Given the description of an element on the screen output the (x, y) to click on. 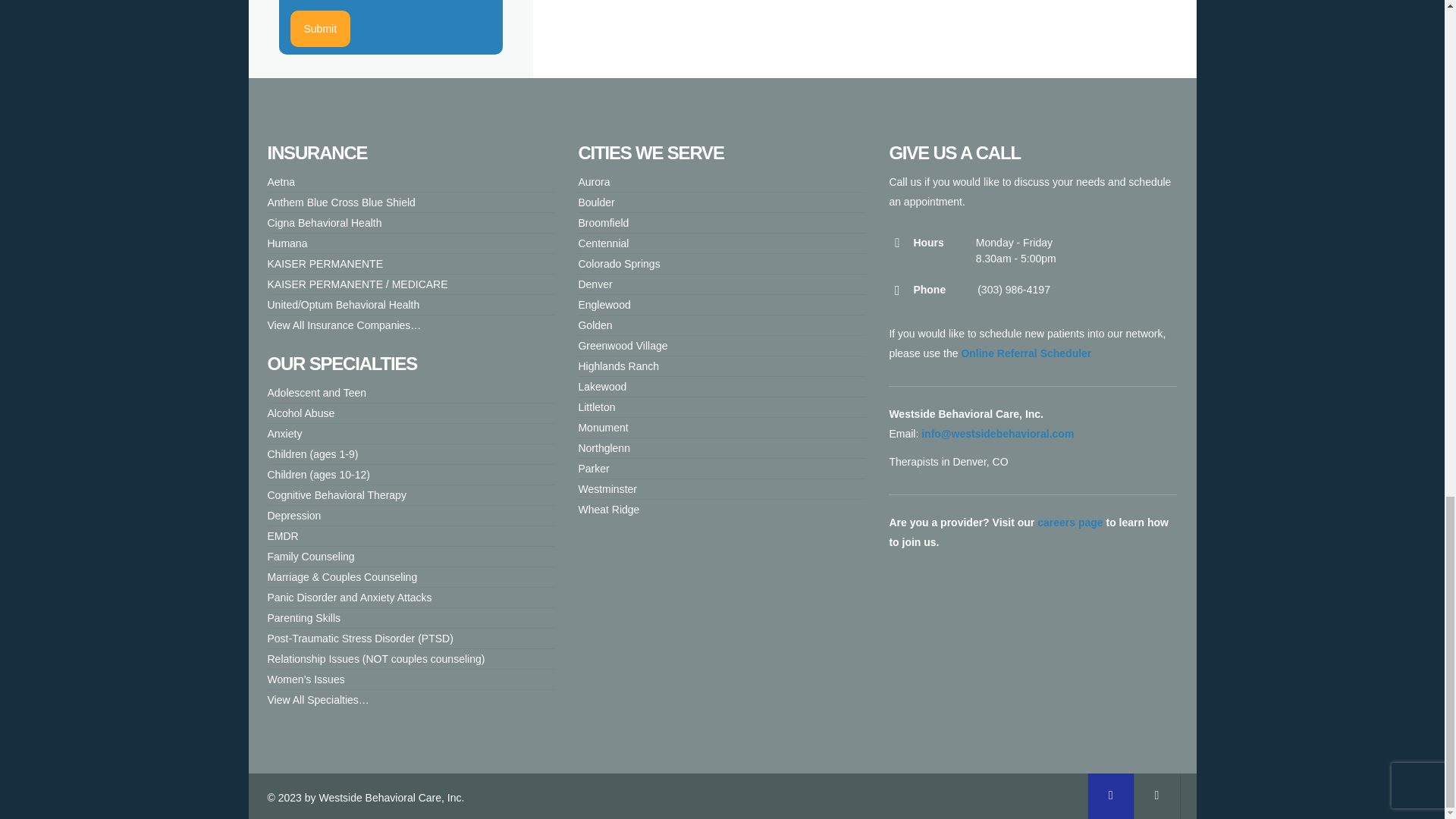
Submit (319, 28)
